Given the description of an element on the screen output the (x, y) to click on. 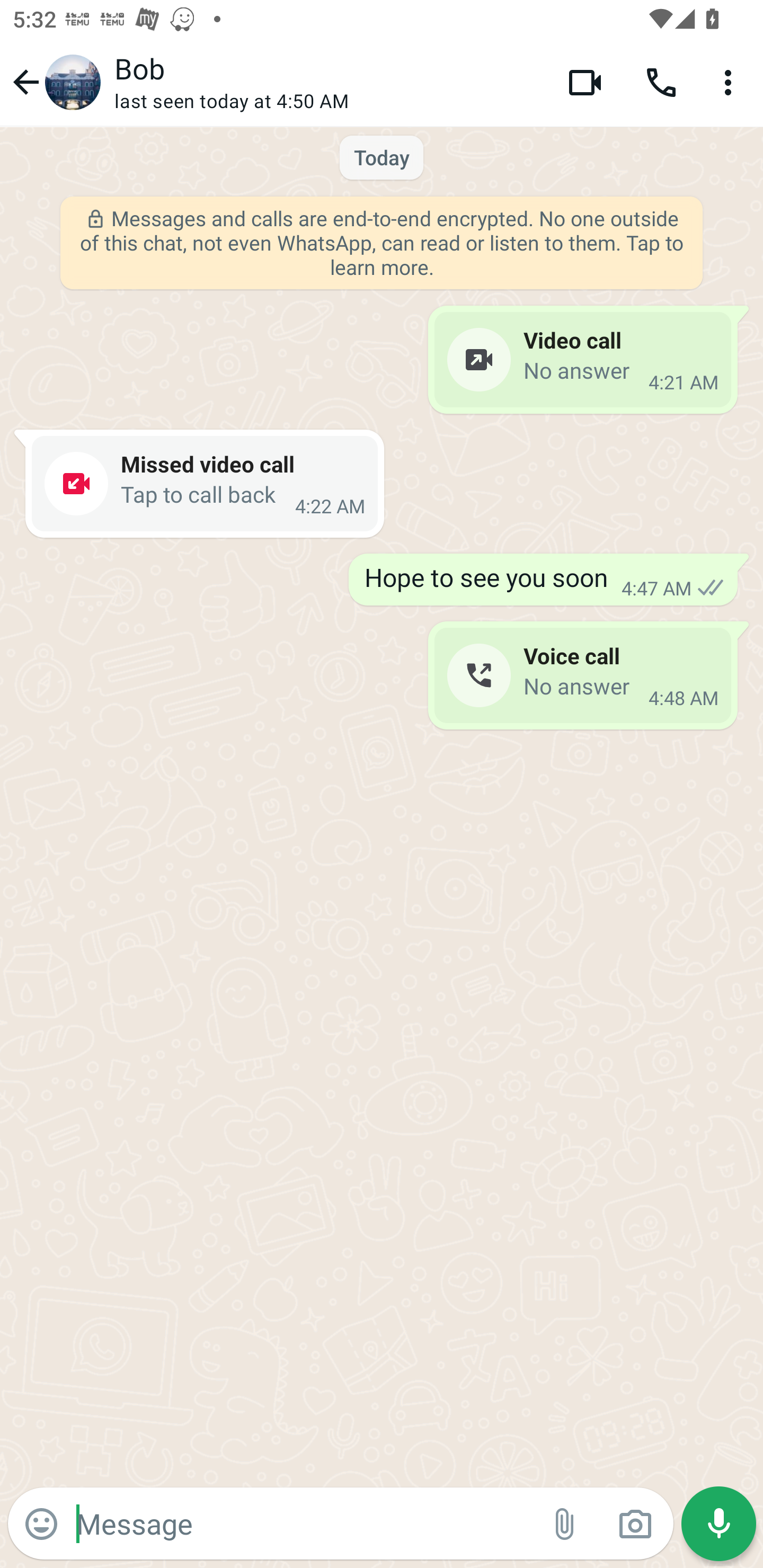
Bob last seen today at 4:50 AM (327, 82)
Navigate up (54, 82)
Video call (585, 81)
Voice call (661, 81)
More options (731, 81)
Emoji (41, 1523)
Attach (565, 1523)
Camera (634, 1523)
Message (303, 1523)
